Given the description of an element on the screen output the (x, y) to click on. 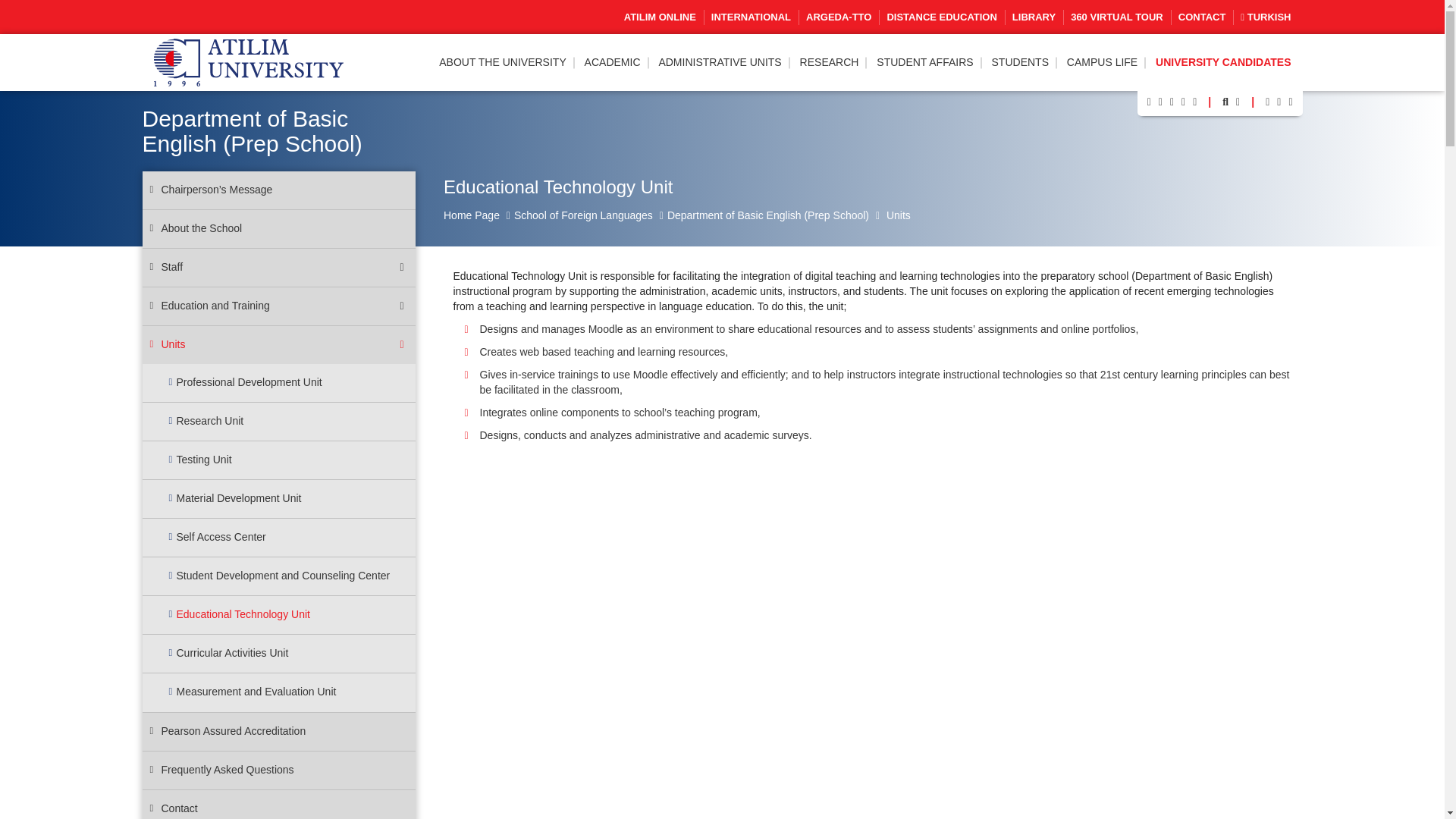
ARGEDA-TTO (838, 16)
DISTANCE EDUCATION (940, 16)
ATILIM ONLINE (659, 16)
LIBRARY (1033, 16)
360 VIRTUAL TOUR (1116, 16)
TURKISH (1265, 16)
INTERNATIONAL (750, 16)
CONTACT (1201, 16)
ABOUT THE UNIVERSITY (502, 62)
